Given the description of an element on the screen output the (x, y) to click on. 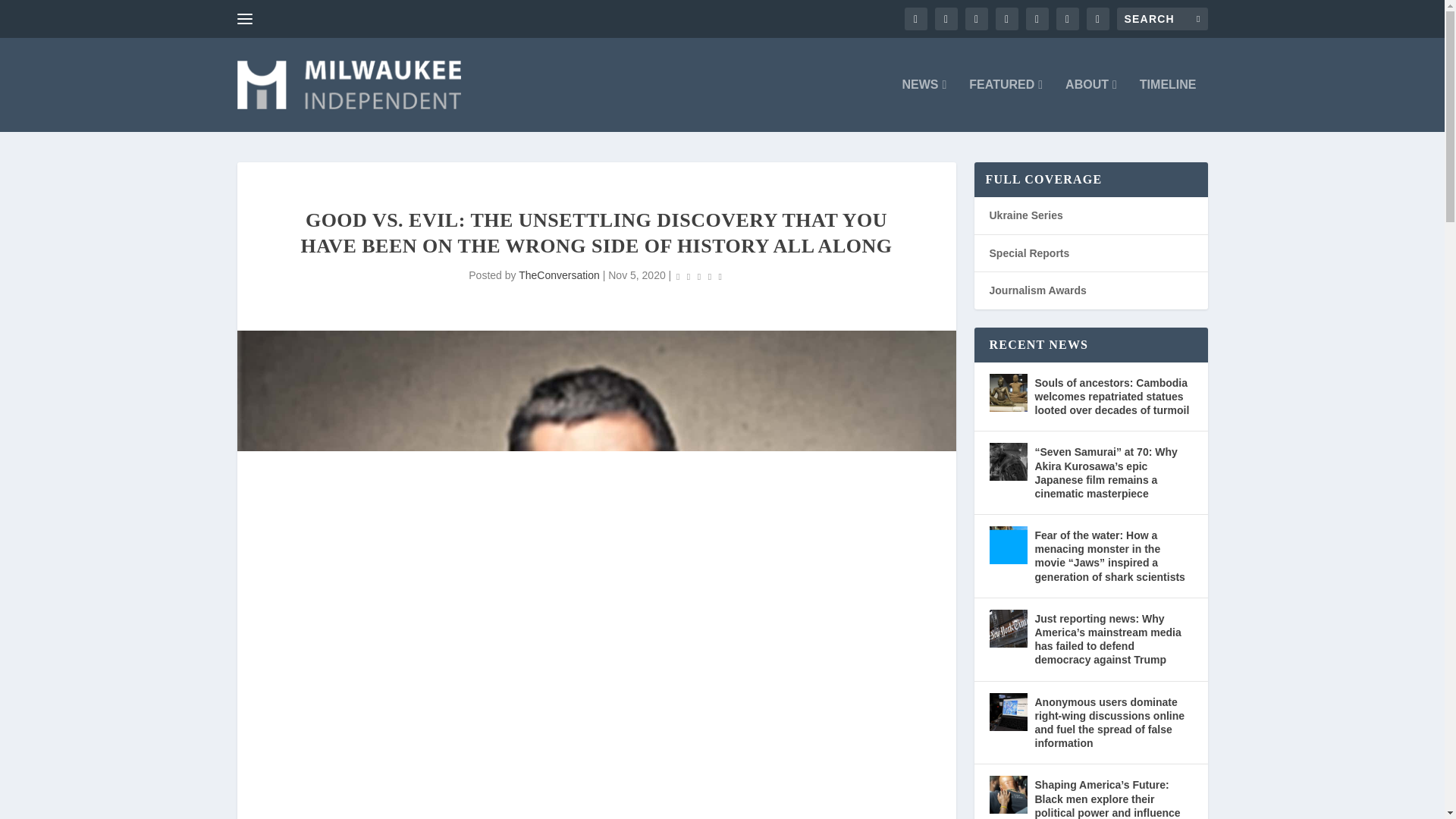
ABOUT (1090, 104)
Search for: (1161, 18)
TIMELINE (1168, 104)
Rating: 0.00 (698, 275)
TheConversation (558, 275)
Posts by TheConversation (558, 275)
FEATURED (1005, 104)
